Given the description of an element on the screen output the (x, y) to click on. 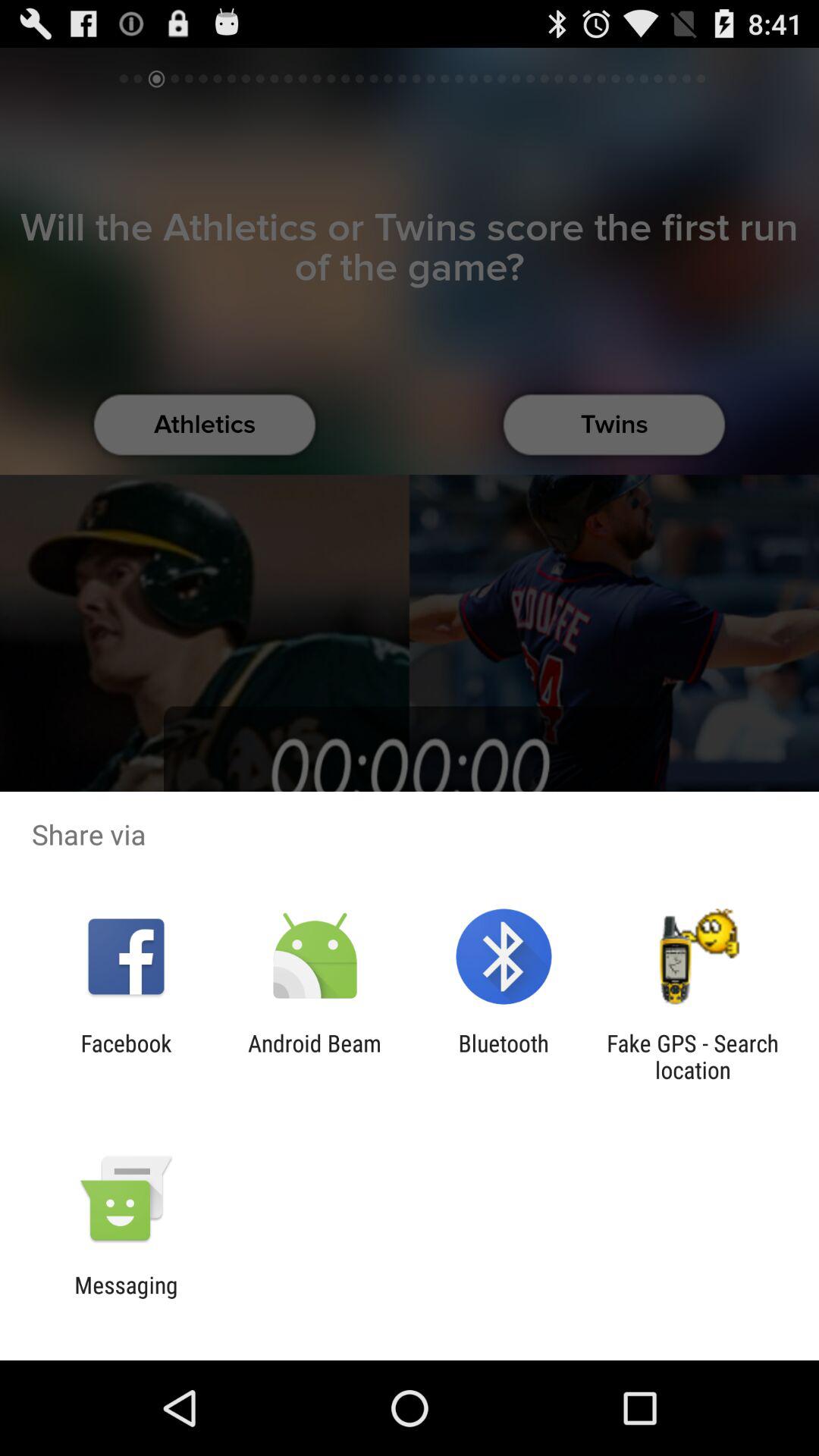
open messaging item (126, 1298)
